Given the description of an element on the screen output the (x, y) to click on. 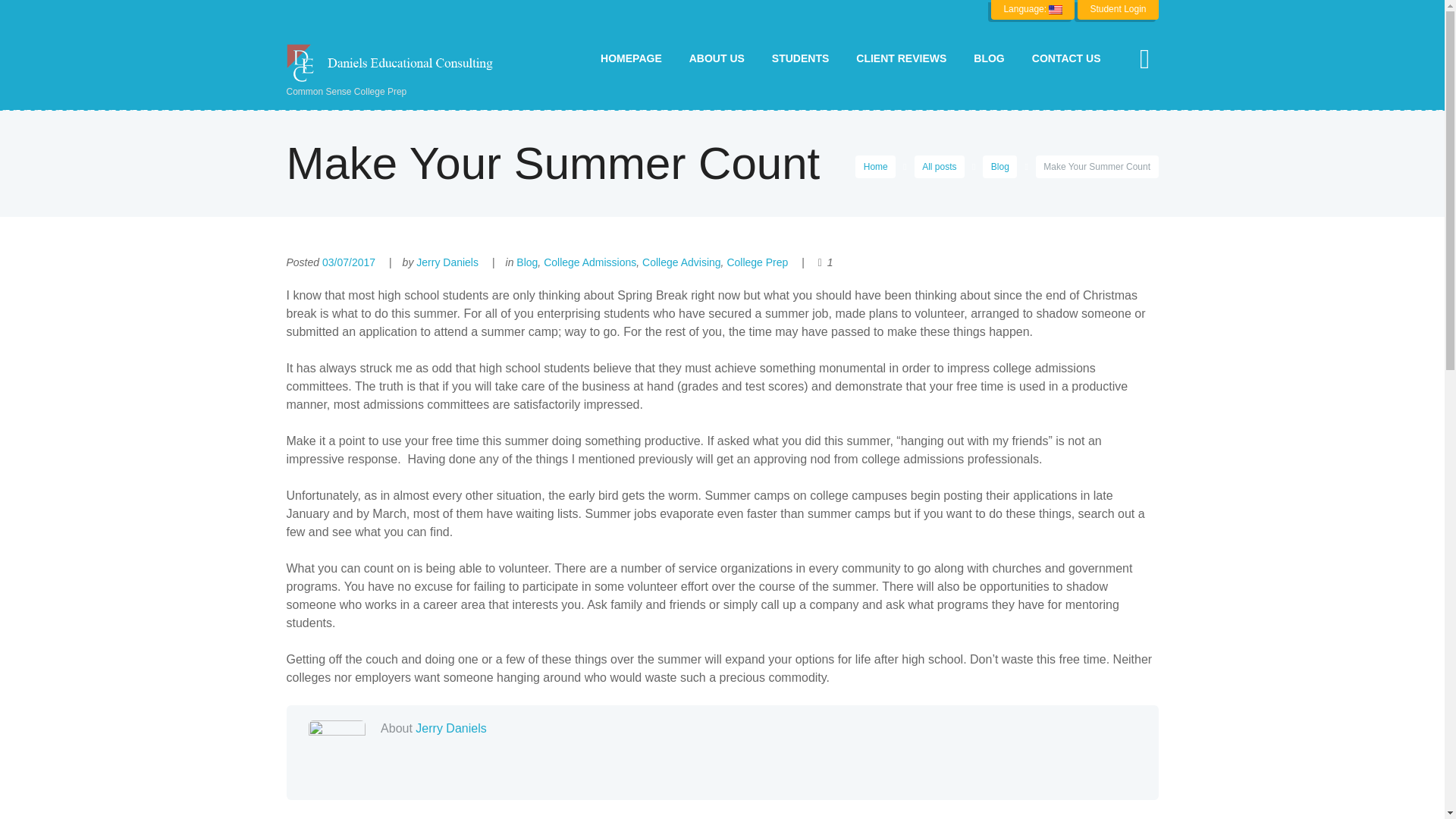
Language:  (1032, 9)
Blog (999, 166)
Common Sense College Prep (395, 71)
College Advising (681, 262)
Blog (526, 262)
CLIENT REVIEWS (901, 58)
CONTACT US (1066, 58)
HOMEPAGE (631, 58)
All posts (938, 166)
Jerry Daniels (447, 262)
